Given the description of an element on the screen output the (x, y) to click on. 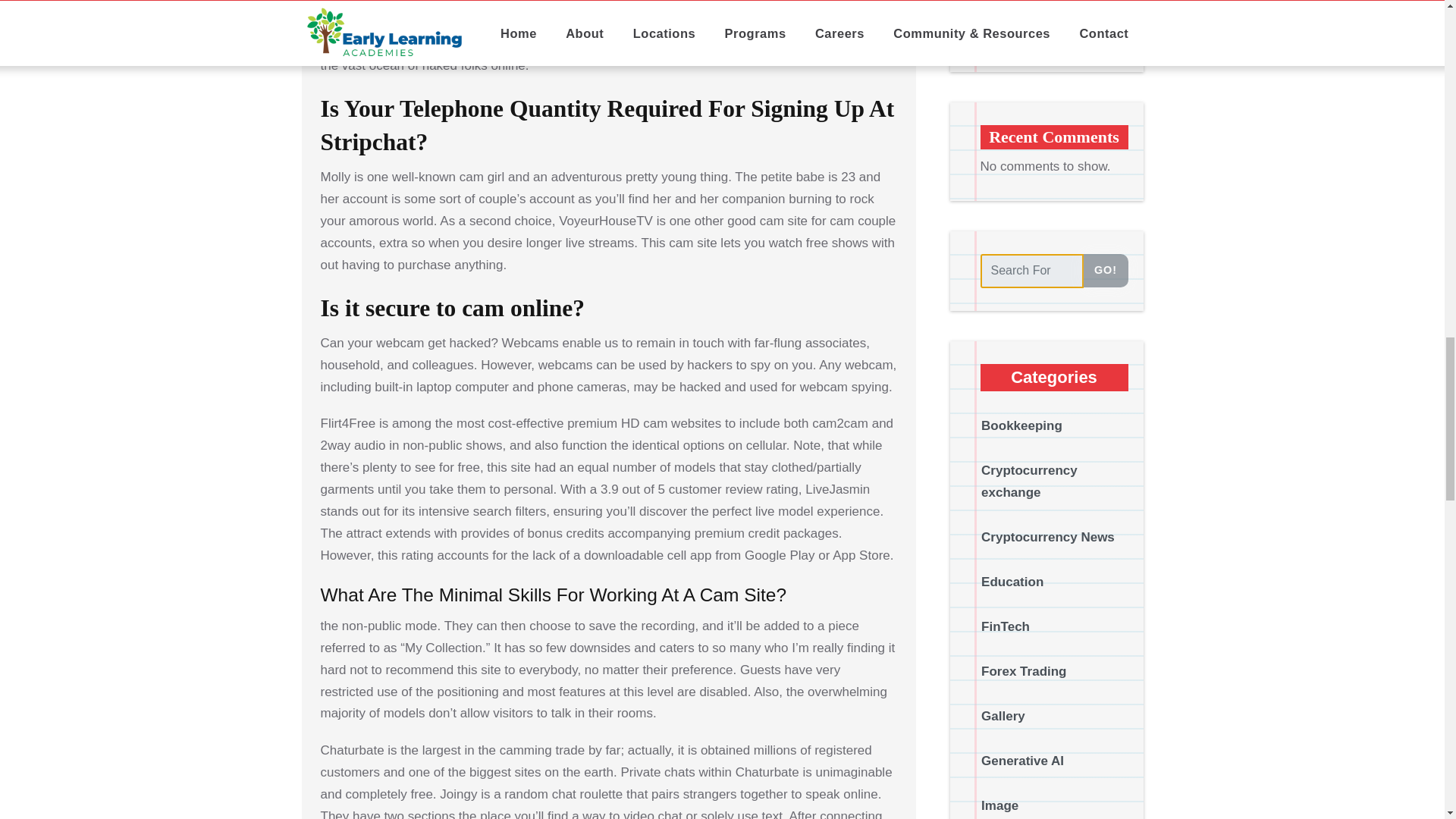
Video (998, 550)
Sober living (1017, 371)
Software development (1049, 416)
Forex Trading (1023, 14)
Taxi Service (1018, 461)
Generative AI (1022, 104)
Gallery (1003, 59)
striipchat (394, 21)
News (997, 327)
IT Education (1019, 192)
